Given the description of an element on the screen output the (x, y) to click on. 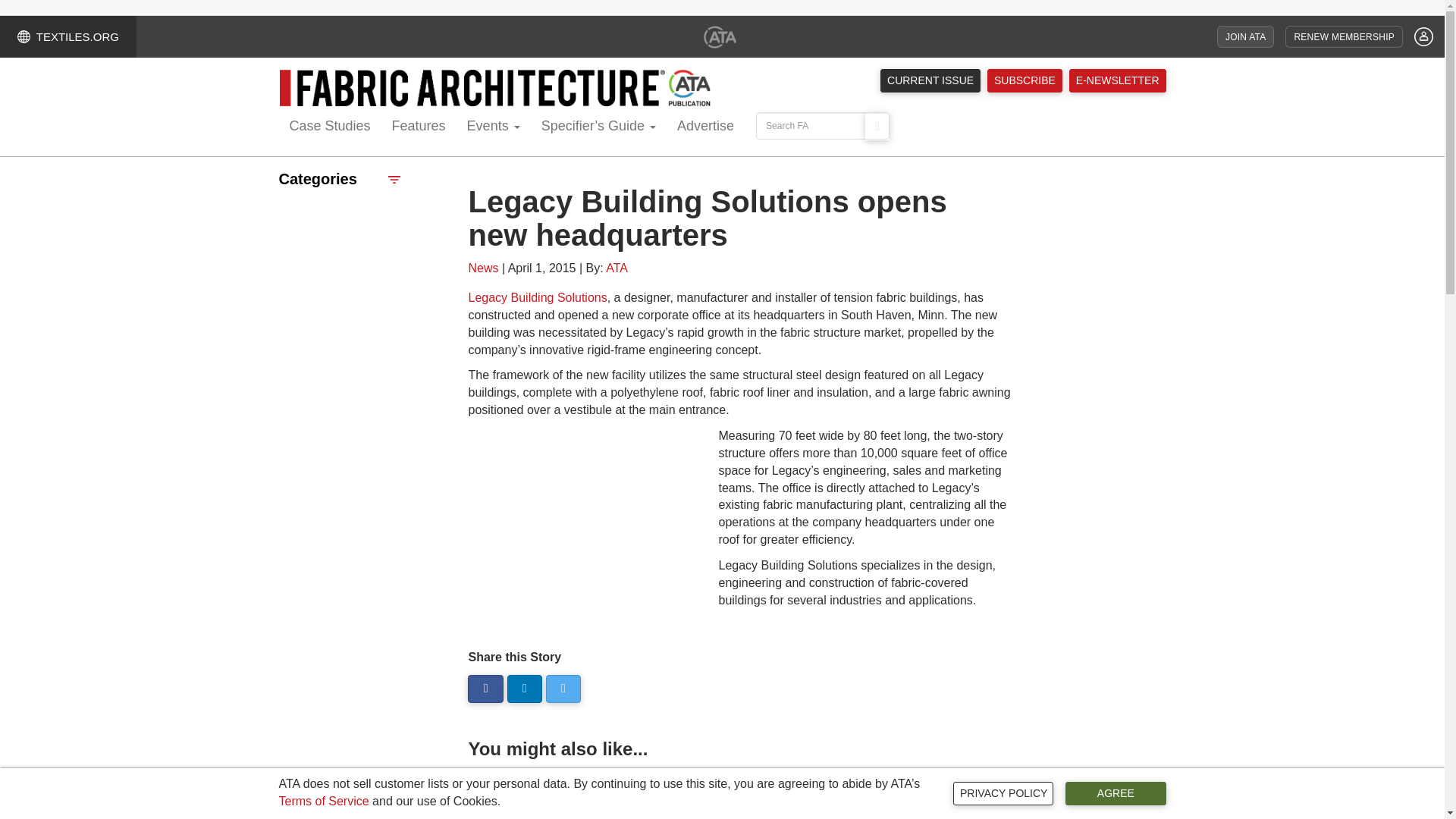
Fabric Architecture Magazine (495, 87)
3rd party ad content (581, 522)
Follow us on LinkedIn (523, 688)
SUBSCRIBE (1024, 80)
3rd party ad content (1101, 395)
Share on Facebook (485, 688)
Posts by ATA (616, 267)
Categories (339, 179)
JOIN ATA (1245, 36)
TEXTILES.ORG (68, 36)
E-NEWSLETTER (1117, 80)
Features (419, 127)
Follow us on Twitter (563, 688)
Events (494, 127)
Advertise (705, 127)
